Given the description of an element on the screen output the (x, y) to click on. 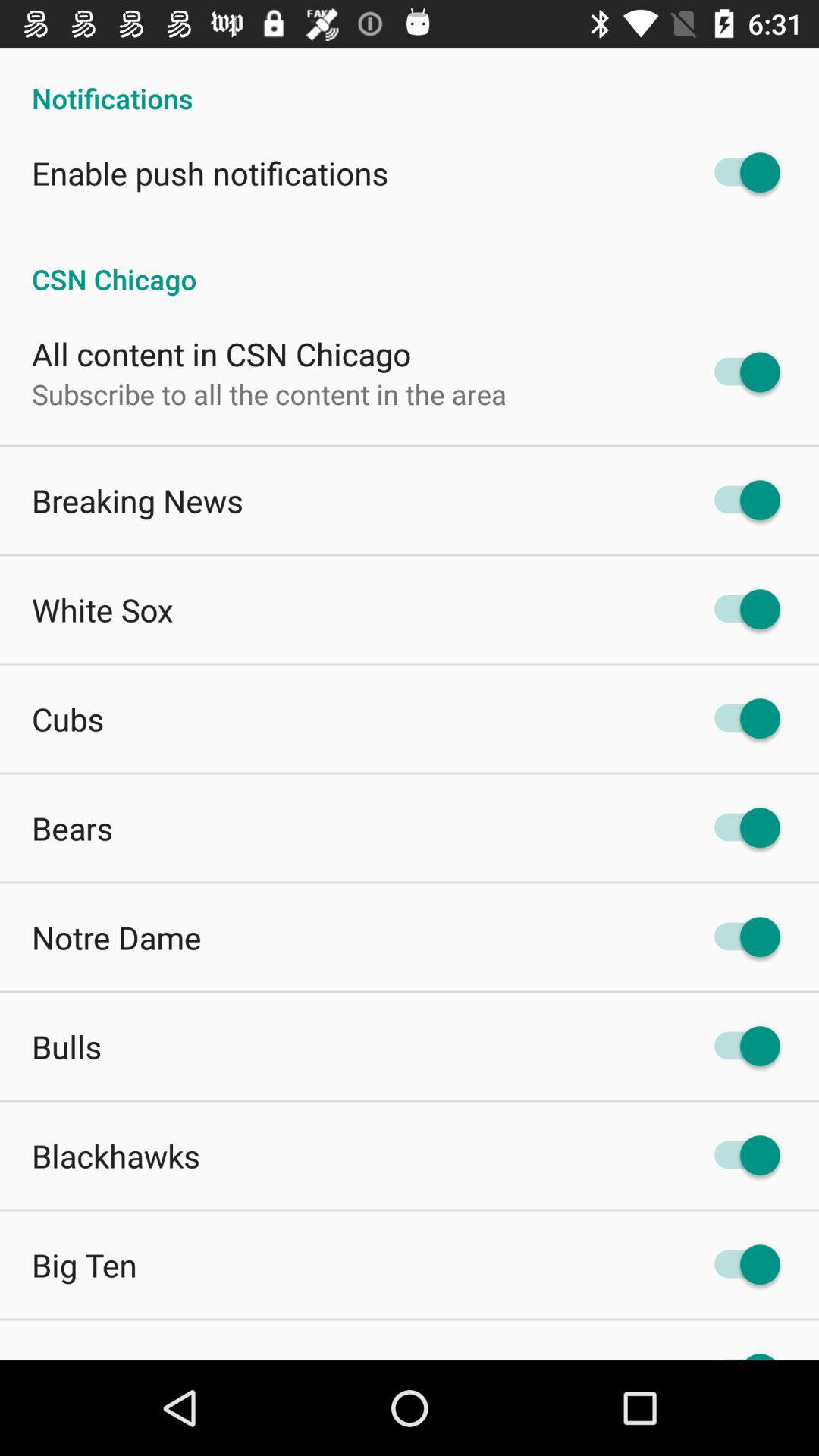
jump until preps app (72, 1356)
